Given the description of an element on the screen output the (x, y) to click on. 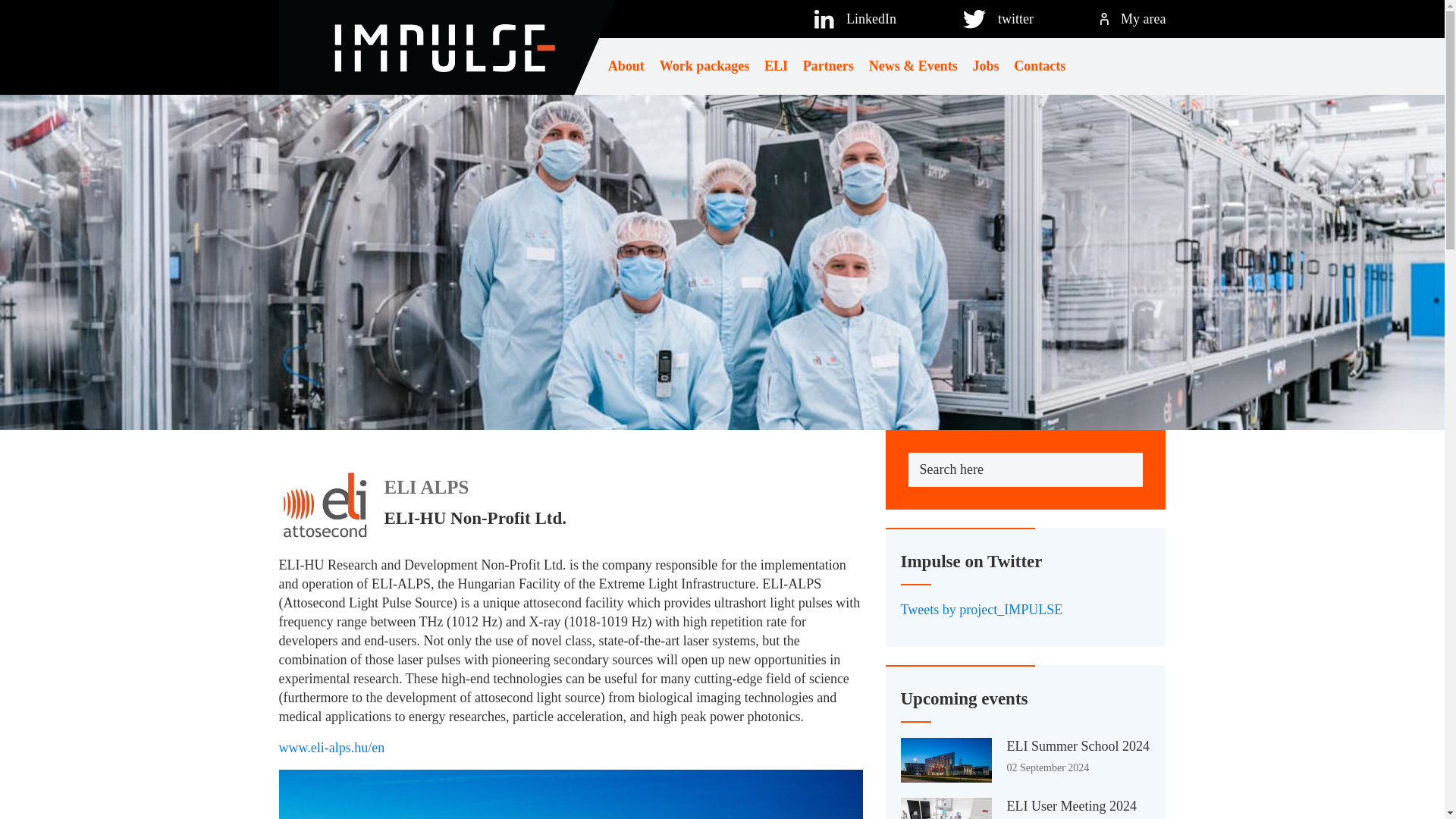
Contacts (1039, 65)
LinkedIn (870, 18)
Partners (827, 65)
Impulse Project (447, 47)
Contacts (1039, 65)
twitter (1015, 18)
My area (1143, 18)
Partners (827, 65)
Work packages (704, 65)
Work packages (704, 65)
